Given the description of an element on the screen output the (x, y) to click on. 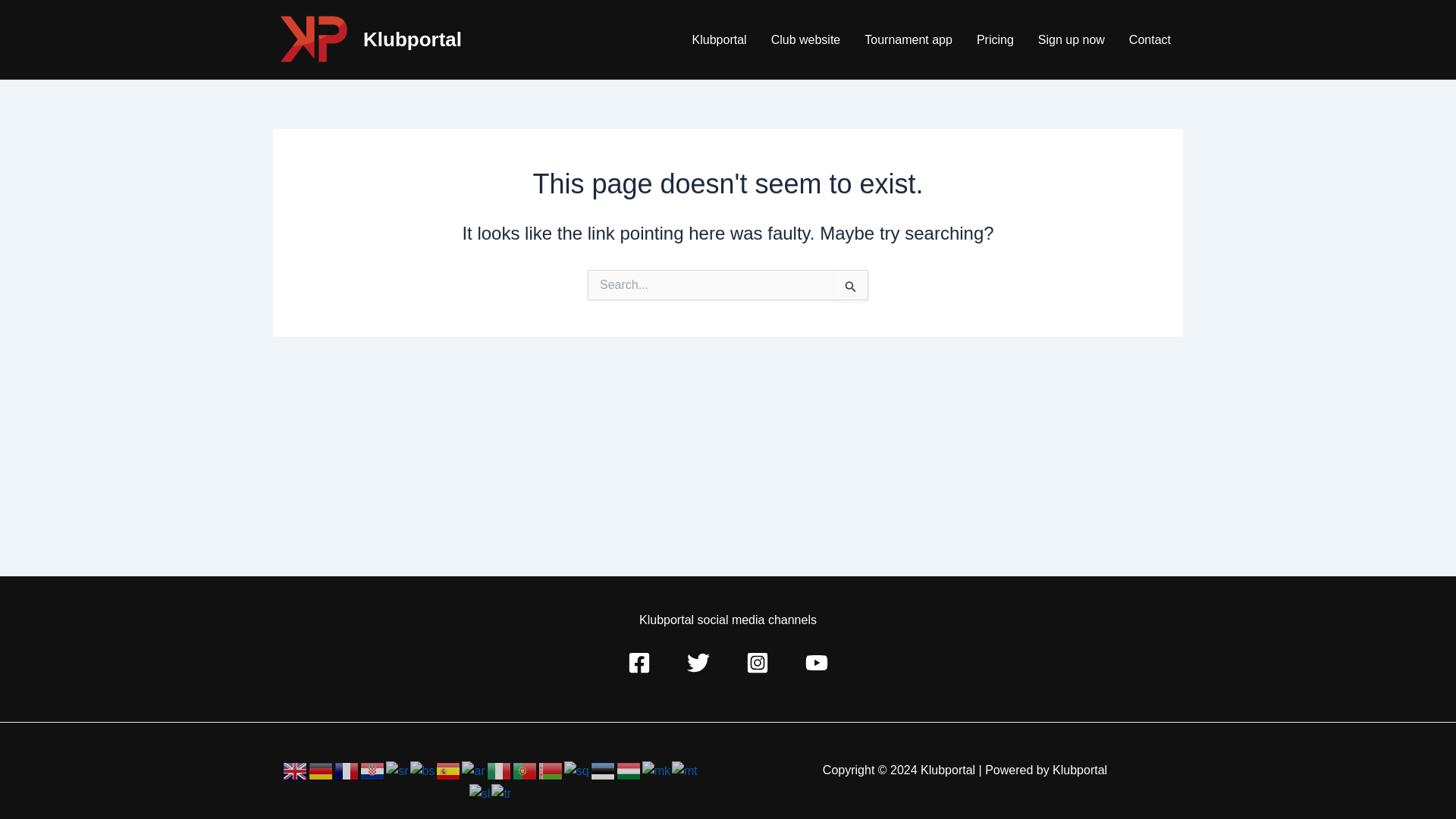
Contact (1149, 39)
Search (850, 286)
Italiano (499, 769)
Eesti (603, 769)
Shqip (577, 769)
Tournament app (907, 39)
Klubportal (411, 38)
Maltese (684, 769)
Pricing (994, 39)
Club website (805, 39)
Search (850, 286)
Magyar (628, 769)
Klubportal (718, 39)
Bosanski (423, 769)
Search (850, 286)
